Given the description of an element on the screen output the (x, y) to click on. 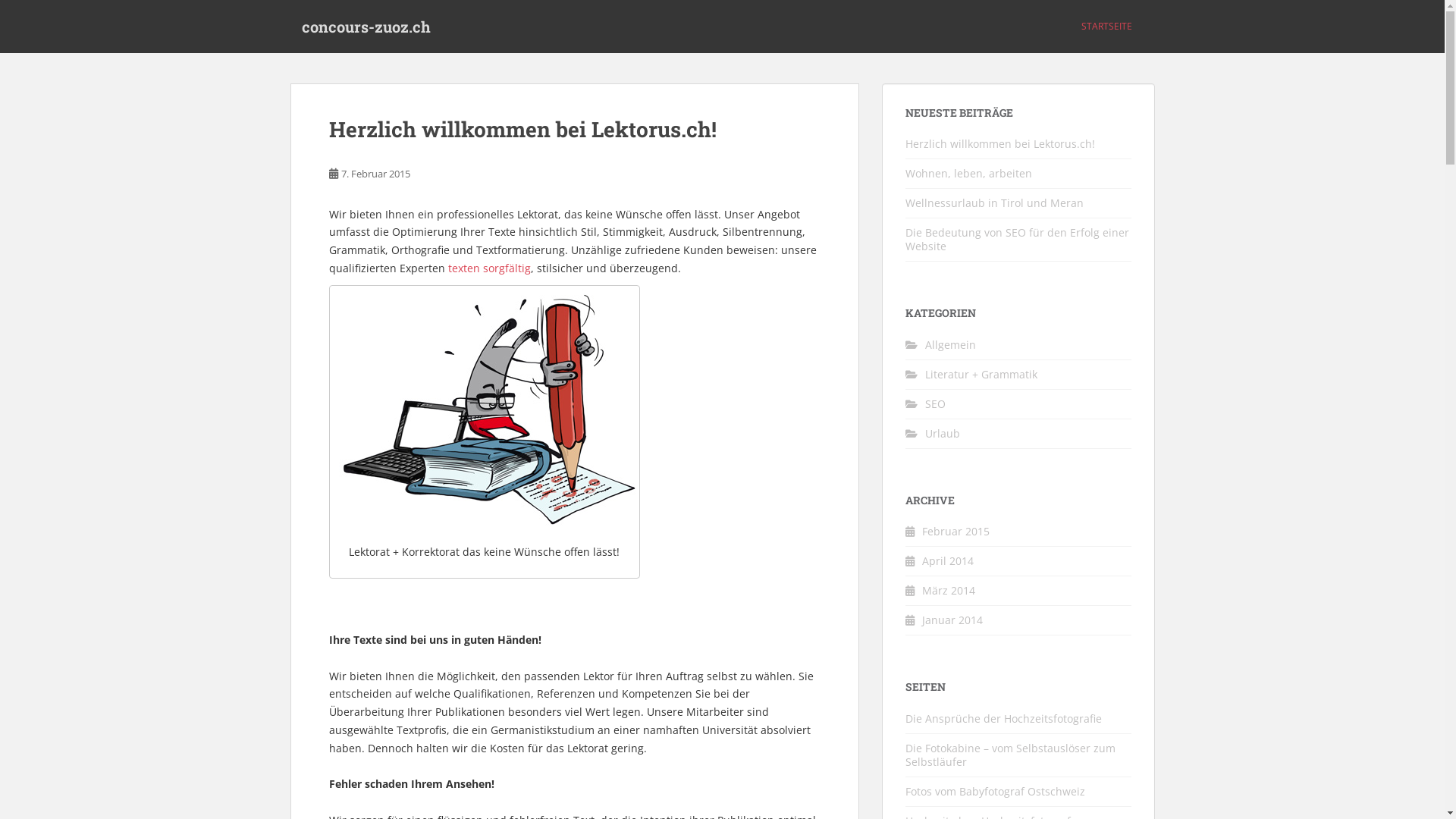
April 2014 Element type: text (947, 560)
Literatur + Grammatik Element type: text (981, 374)
Wohnen, leben, arbeiten Element type: text (968, 173)
7. Februar 2015 Element type: text (375, 173)
Februar 2015 Element type: text (955, 531)
STARTSEITE Element type: text (1106, 26)
Herzlich willkommen bei Lektorus.ch! Element type: text (1000, 143)
Januar 2014 Element type: text (952, 619)
Herzlich willkommen bei Lektorus.ch! Element type: text (522, 129)
Wellnessurlaub in Tirol und Meran Element type: text (994, 202)
Fotos vom Babyfotograf Ostschweiz Element type: text (995, 791)
Urlaub Element type: text (942, 433)
Allgemein Element type: text (950, 344)
concours-zuoz.ch Element type: text (365, 26)
SEO Element type: text (935, 403)
